Given the description of an element on the screen output the (x, y) to click on. 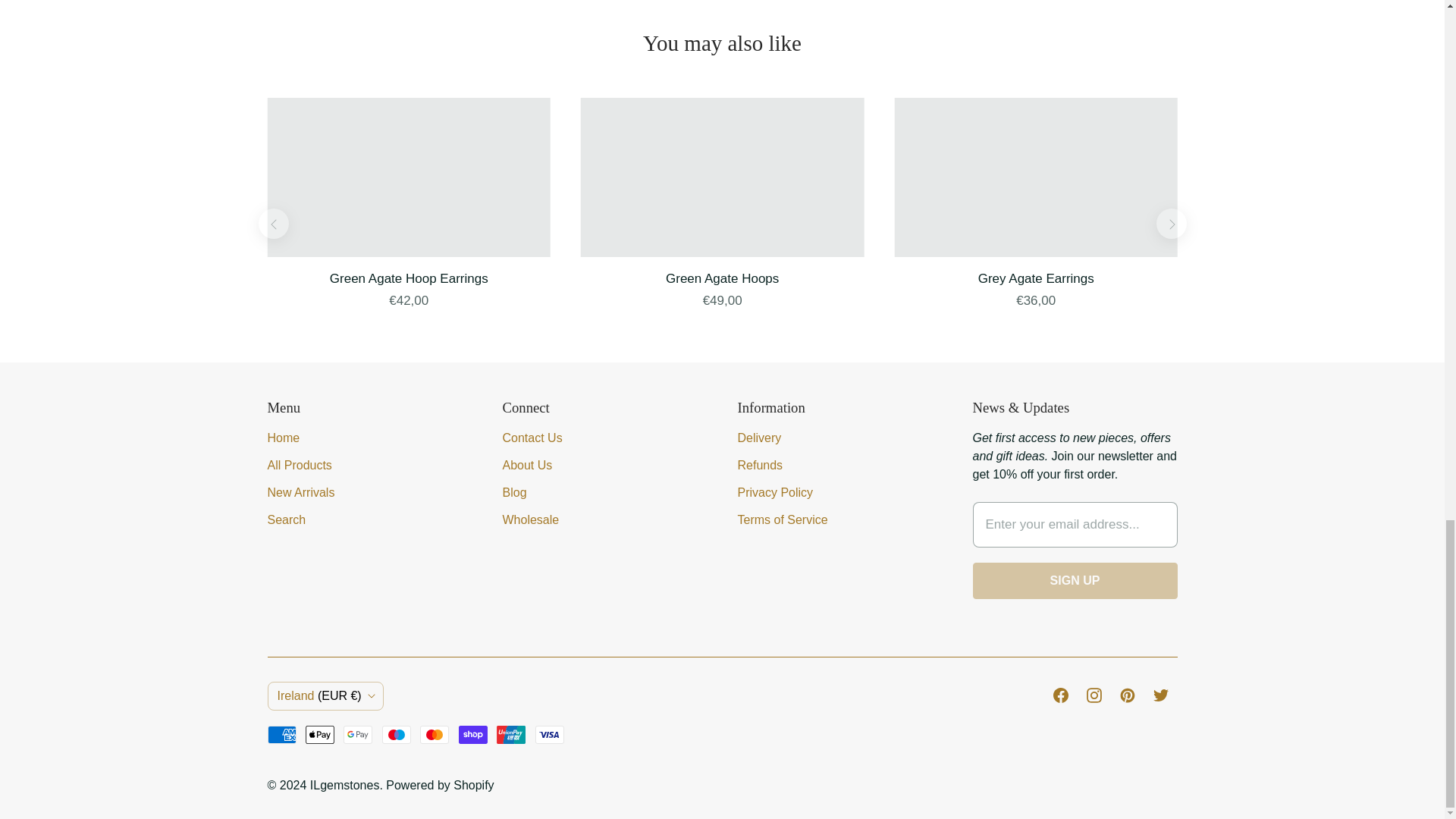
Shop Pay (472, 734)
Mastercard (434, 734)
Union Pay (510, 734)
Maestro (395, 734)
Apple Pay (319, 734)
Sign Up (1074, 580)
American Express (280, 734)
Visa (549, 734)
Google Pay (357, 734)
